Given the description of an element on the screen output the (x, y) to click on. 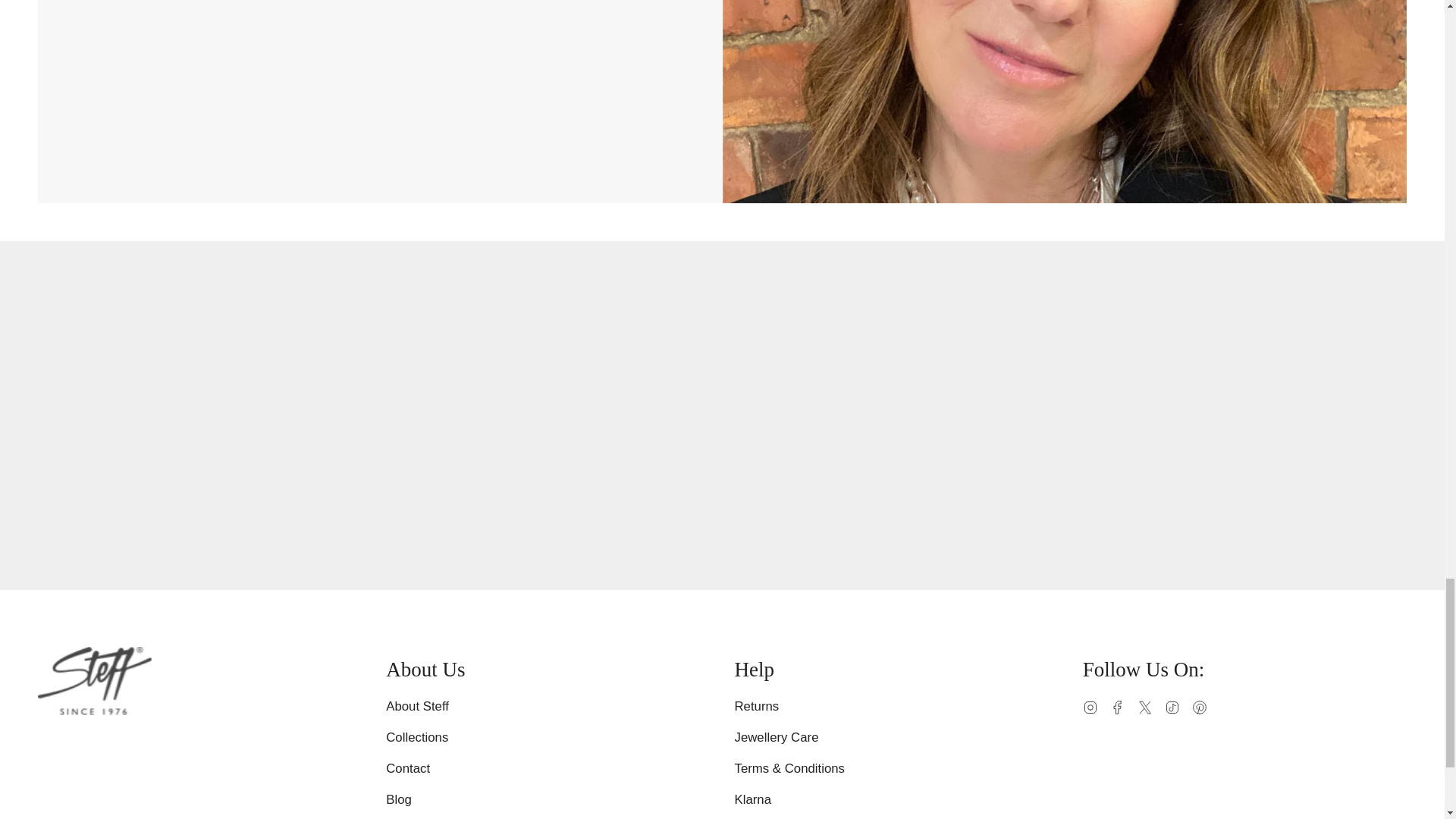
Steff Jewellery on Twitter (1145, 706)
Steff Jewellery on Pinterest (1199, 706)
Steff Jewellery on Facebook (1117, 706)
Steff Jewellery on Instagram (1090, 706)
Steff Jewellery on TikTok (1171, 706)
